Given the description of an element on the screen output the (x, y) to click on. 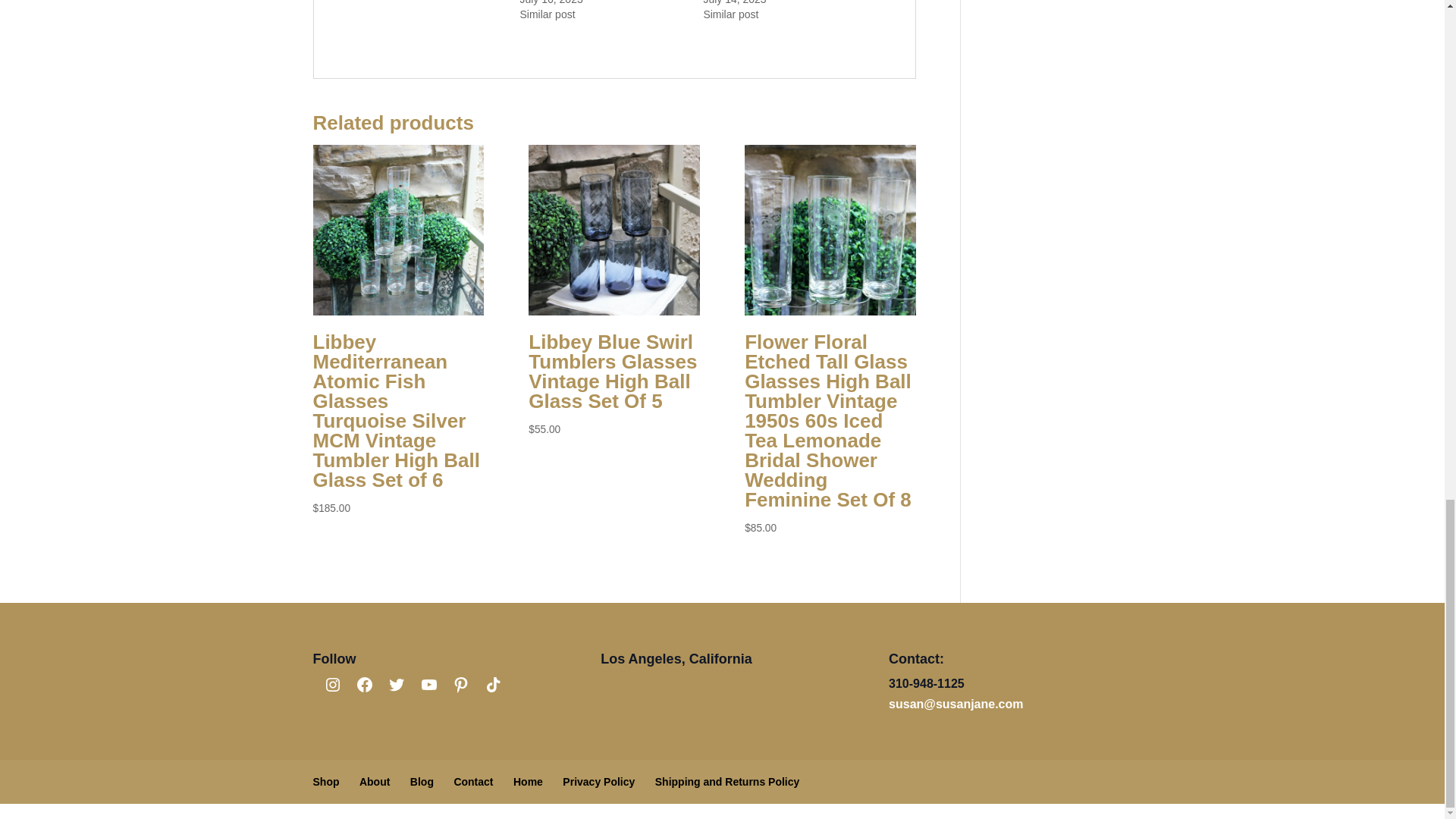
Twitter (396, 684)
Instagram (331, 684)
Susan McDonald personal stylist Los Angeles (528, 781)
Pinterest (460, 684)
TikTok (493, 684)
Facebook (364, 684)
YouTube (429, 684)
Shop (326, 781)
